Given the description of an element on the screen output the (x, y) to click on. 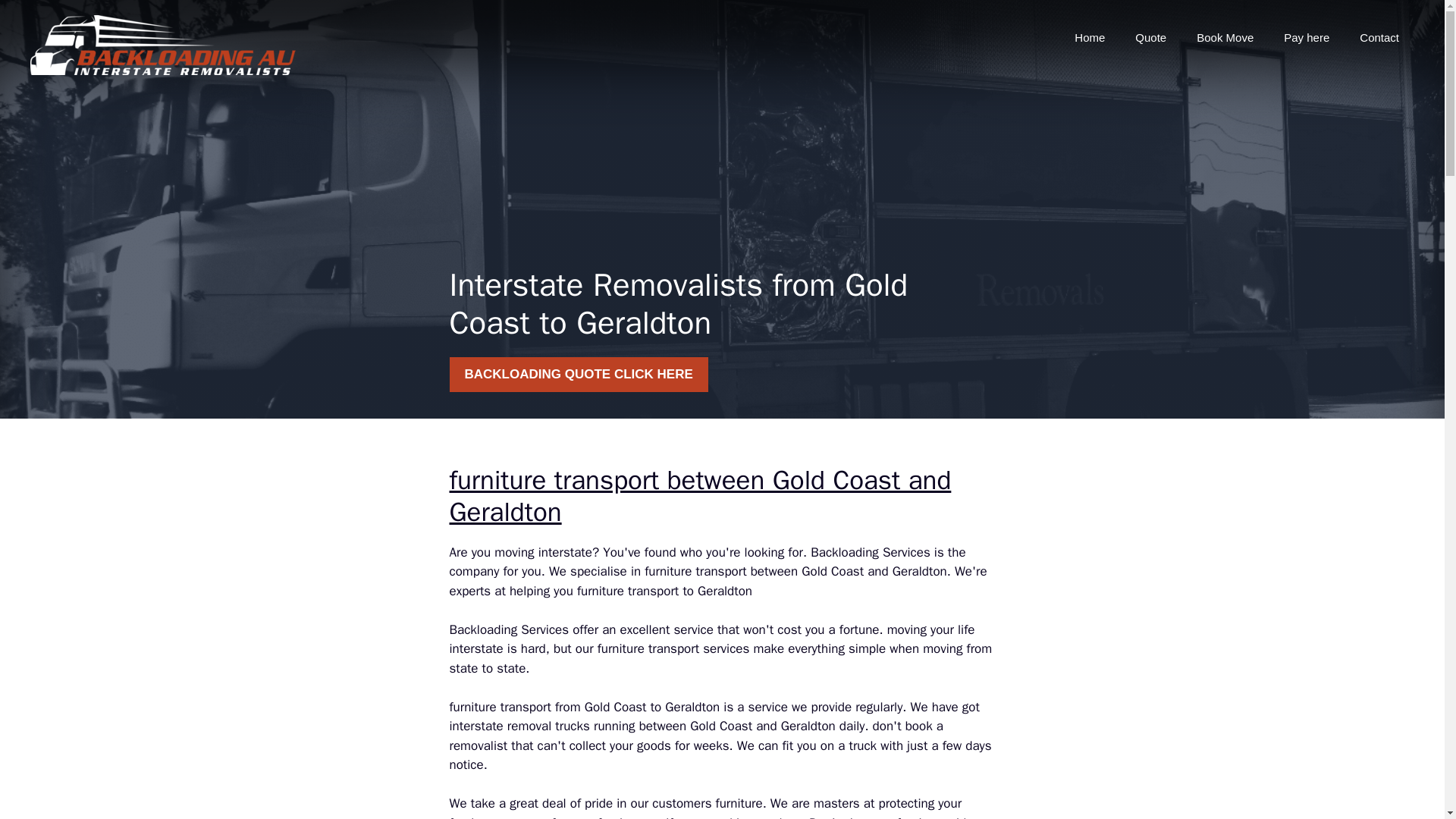
Contact (1378, 37)
Quote (1149, 37)
Book Move (1224, 37)
Home (1089, 37)
Pay here (1305, 37)
BACKLOADING QUOTE CLICK HERE (577, 374)
Search (42, 18)
